Given the description of an element on the screen output the (x, y) to click on. 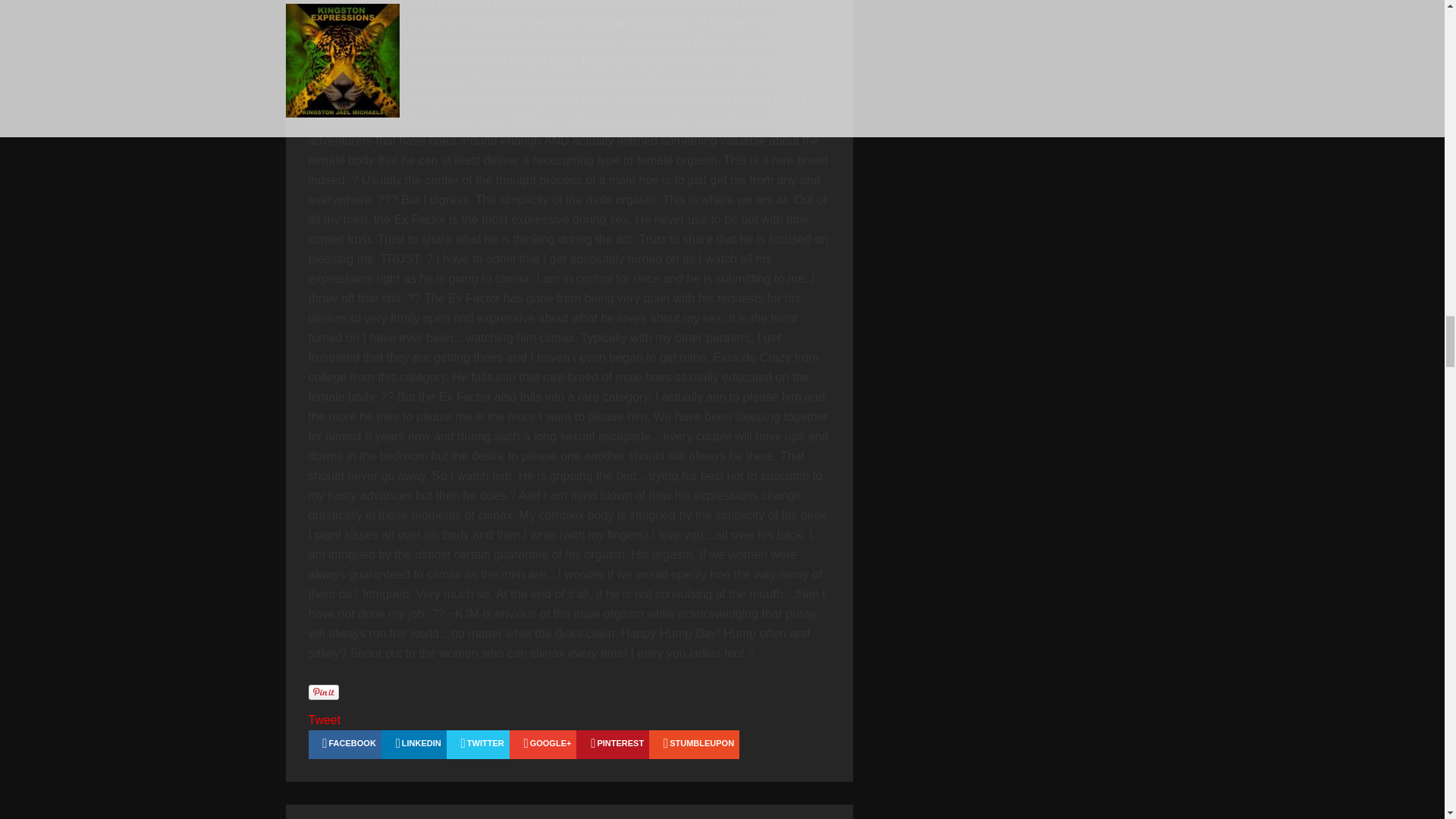
LINKEDIN (413, 744)
Pin It (322, 692)
Tweet (323, 719)
TWITTER (477, 744)
FACEBOOK (343, 744)
